Given the description of an element on the screen output the (x, y) to click on. 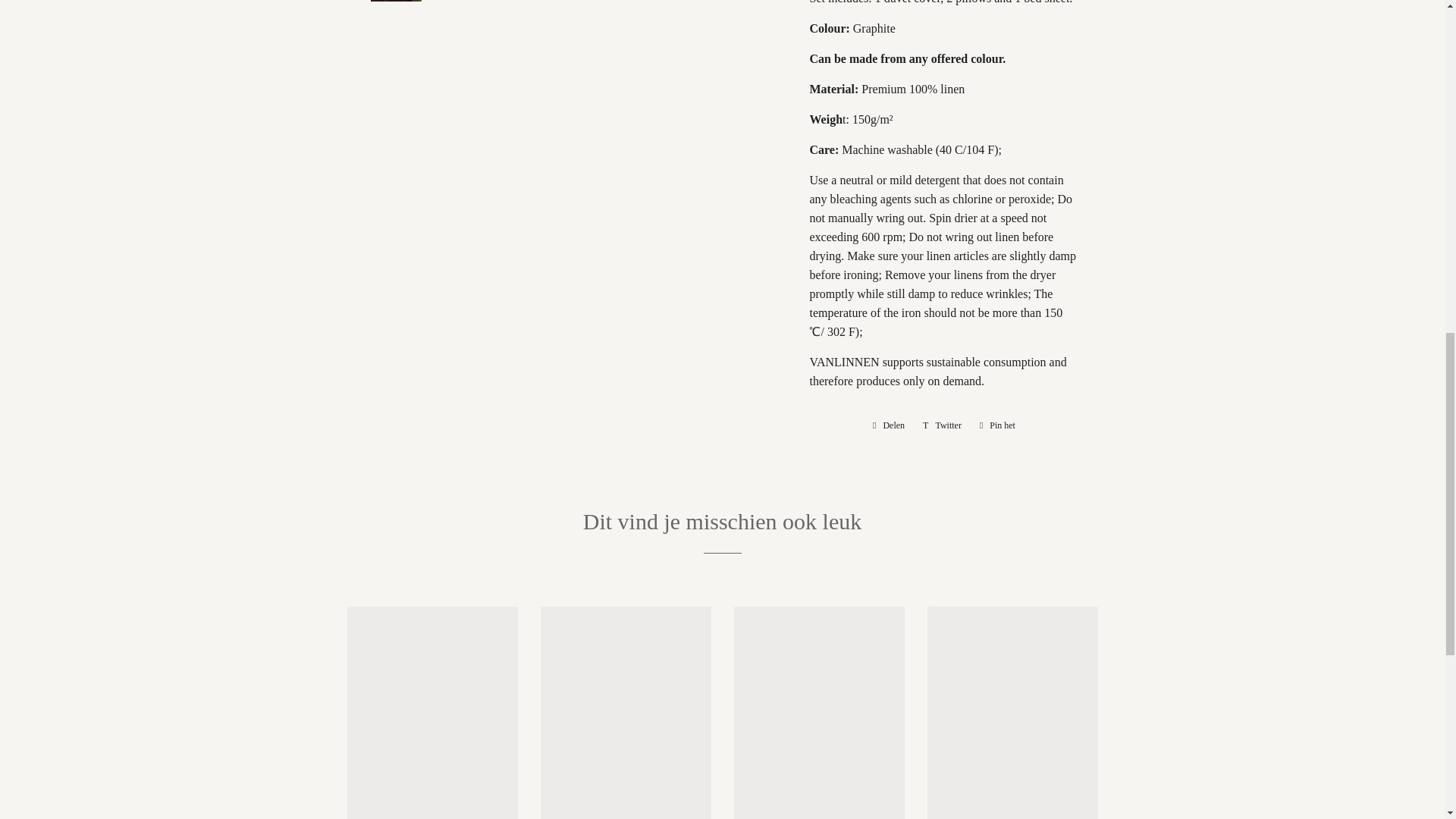
Twitteren op Twitter (942, 425)
Pinnen op Pinterest (997, 425)
Delen op Facebook (888, 425)
